Given the description of an element on the screen output the (x, y) to click on. 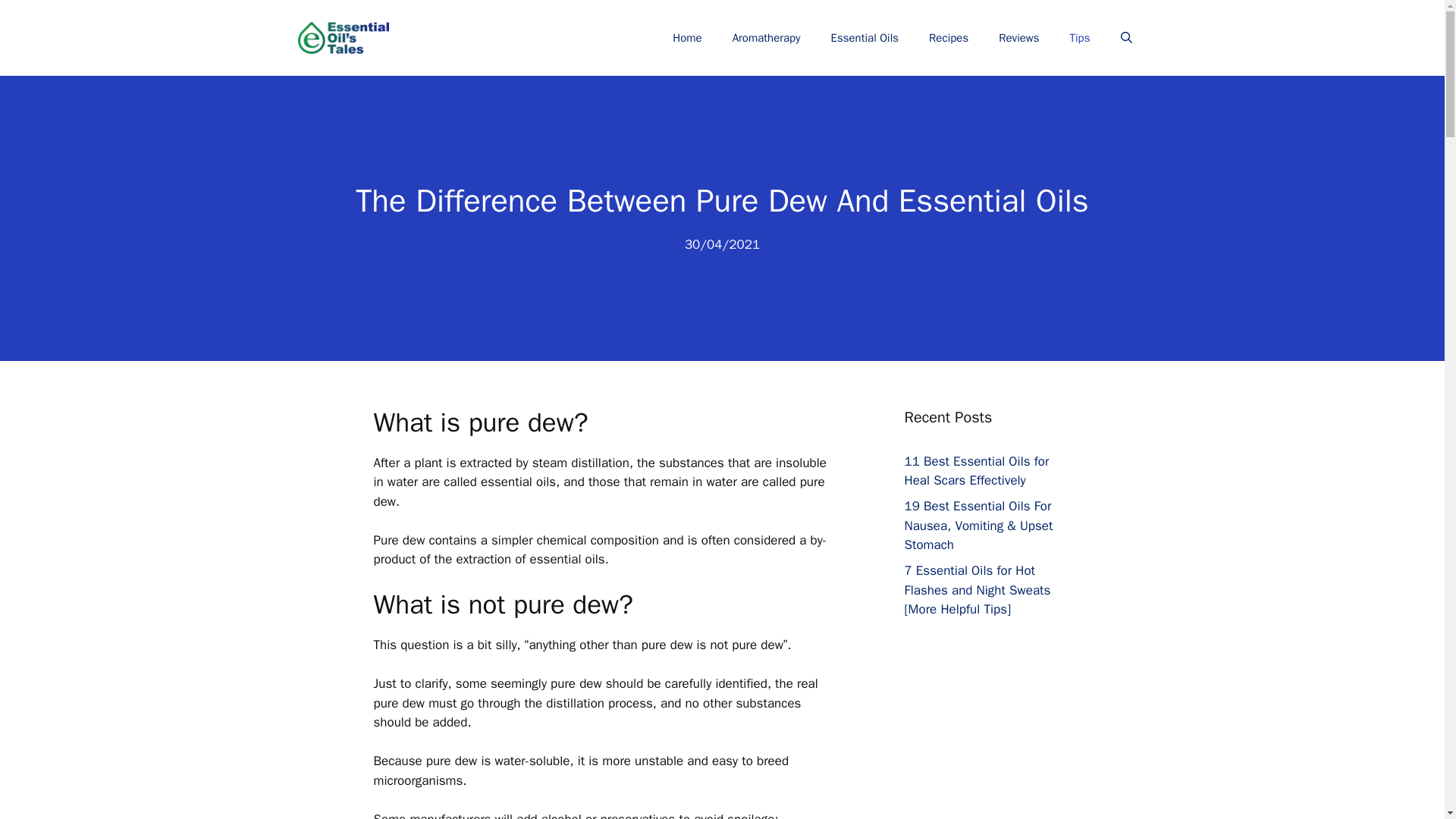
Recipes (949, 37)
Aromatherapy (766, 37)
11 Best Essential Oils for Heal Scars Effectively (976, 470)
Tips (1079, 37)
Essential Oils (864, 37)
Reviews (1019, 37)
Home (687, 37)
Advertisement (1002, 760)
